Given the description of an element on the screen output the (x, y) to click on. 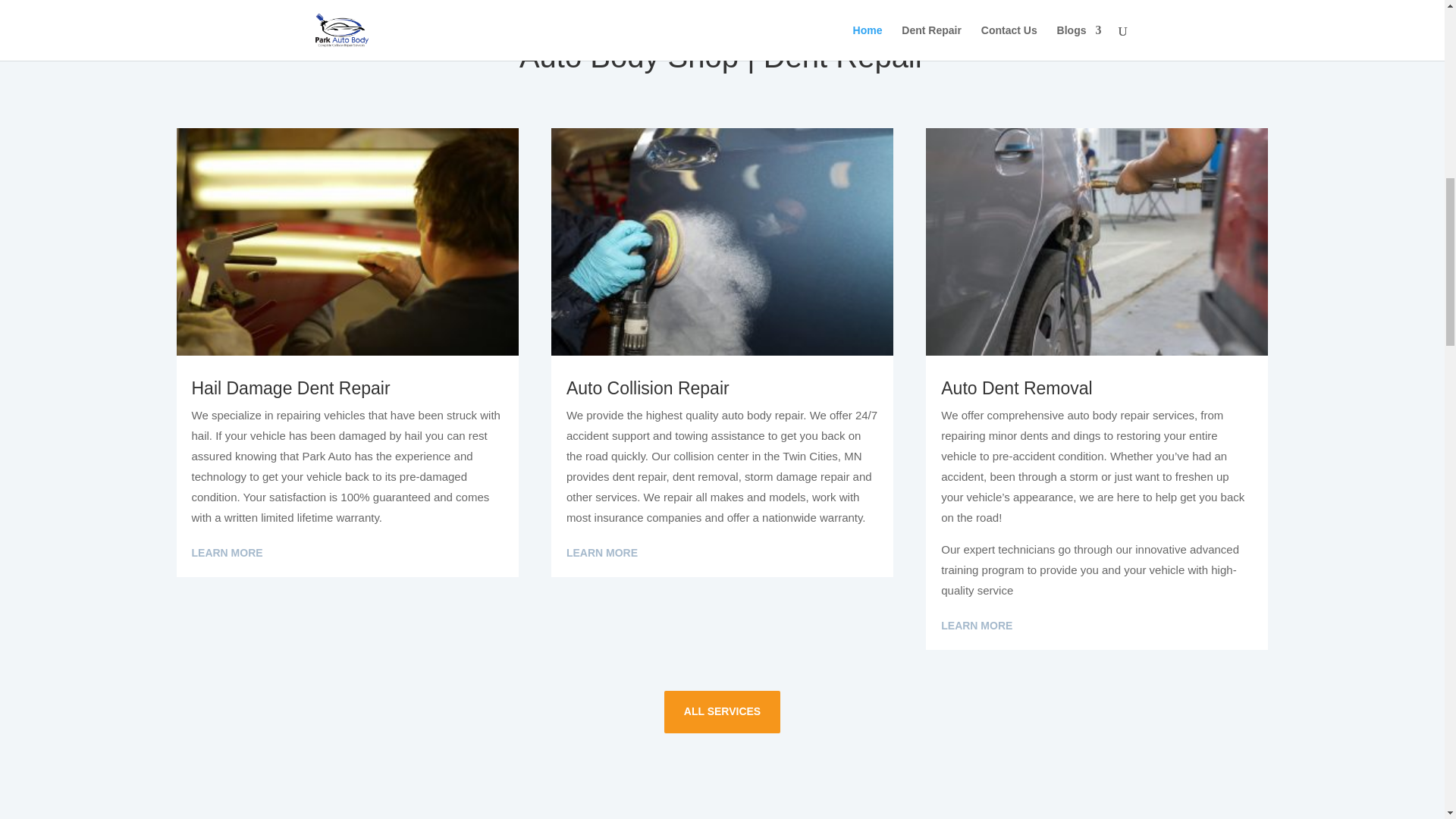
LEARN MORE (601, 553)
ALL SERVICES (721, 712)
LEARN MORE (226, 553)
LEARN MORE (975, 626)
